Given the description of an element on the screen output the (x, y) to click on. 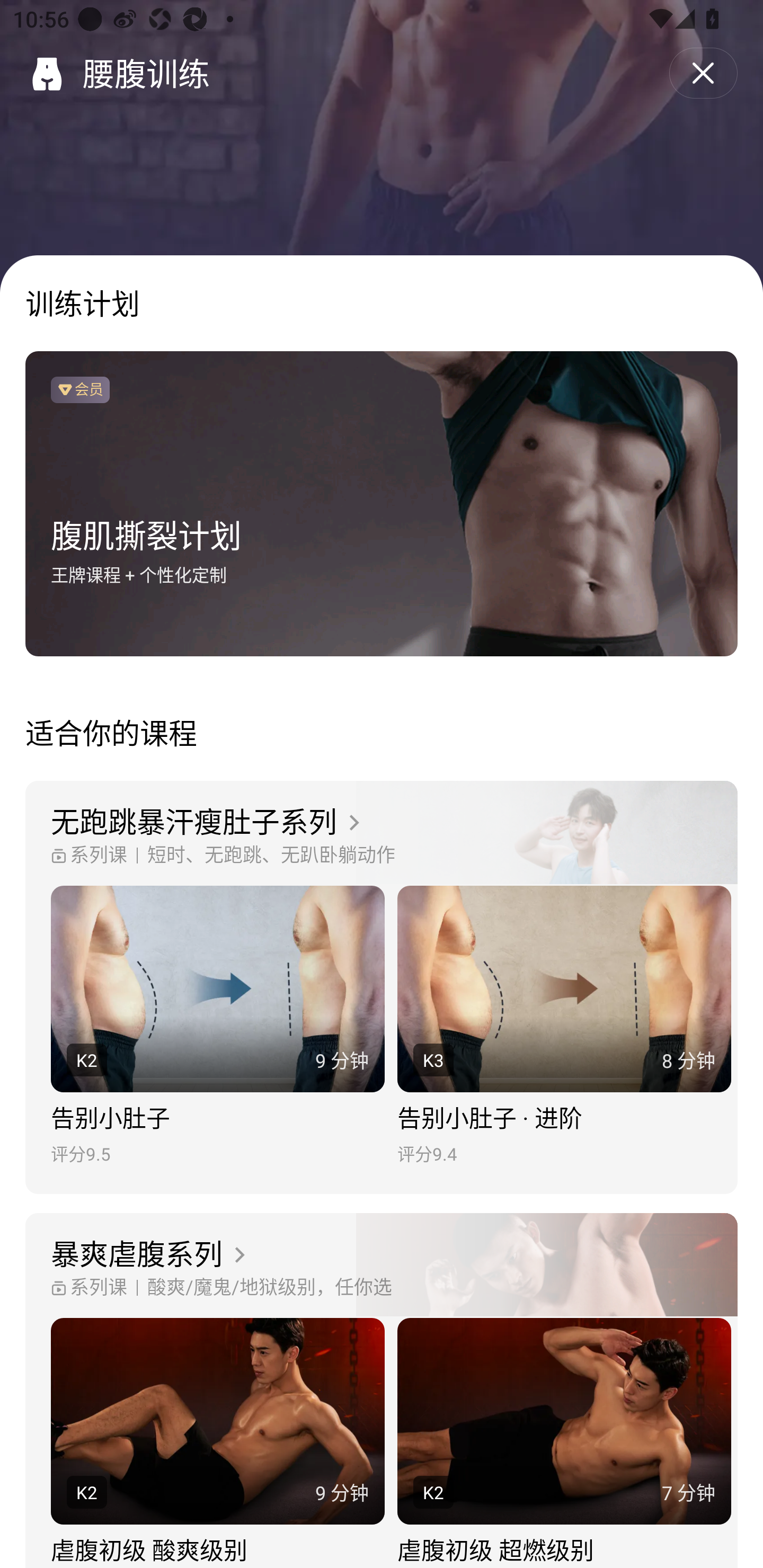
会员 腹肌撕裂计划 王牌课程 + 个性化定制 (381, 503)
无跑跳暴汗瘦肚子系列 系列课 短时、无跑跳、无趴卧躺动作 (381, 832)
K2 9 分钟 告别小肚子 评分9.5 (217, 1025)
K3 8 分钟 告别小肚子 · 进阶 评分9.4 (563, 1025)
暴爽虐腹系列 系列课 酸爽/魔鬼/地狱级别，任你选 (381, 1265)
K2 9 分钟 虐腹初级 酸爽级别 (217, 1443)
K2 7 分钟 虐腹初级 超燃级别 (563, 1443)
